Given the description of an element on the screen output the (x, y) to click on. 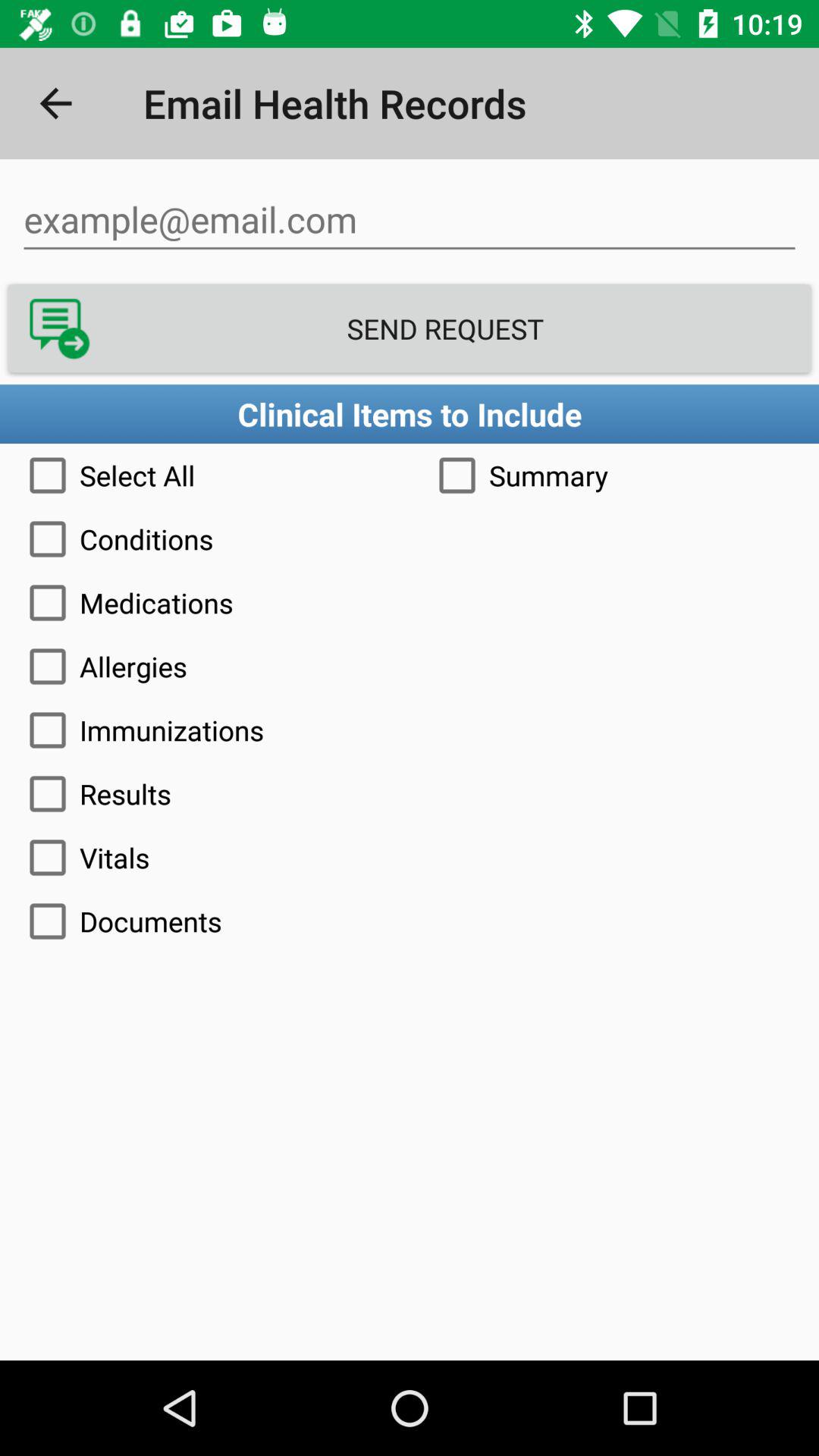
click item above the conditions item (614, 475)
